Given the description of an element on the screen output the (x, y) to click on. 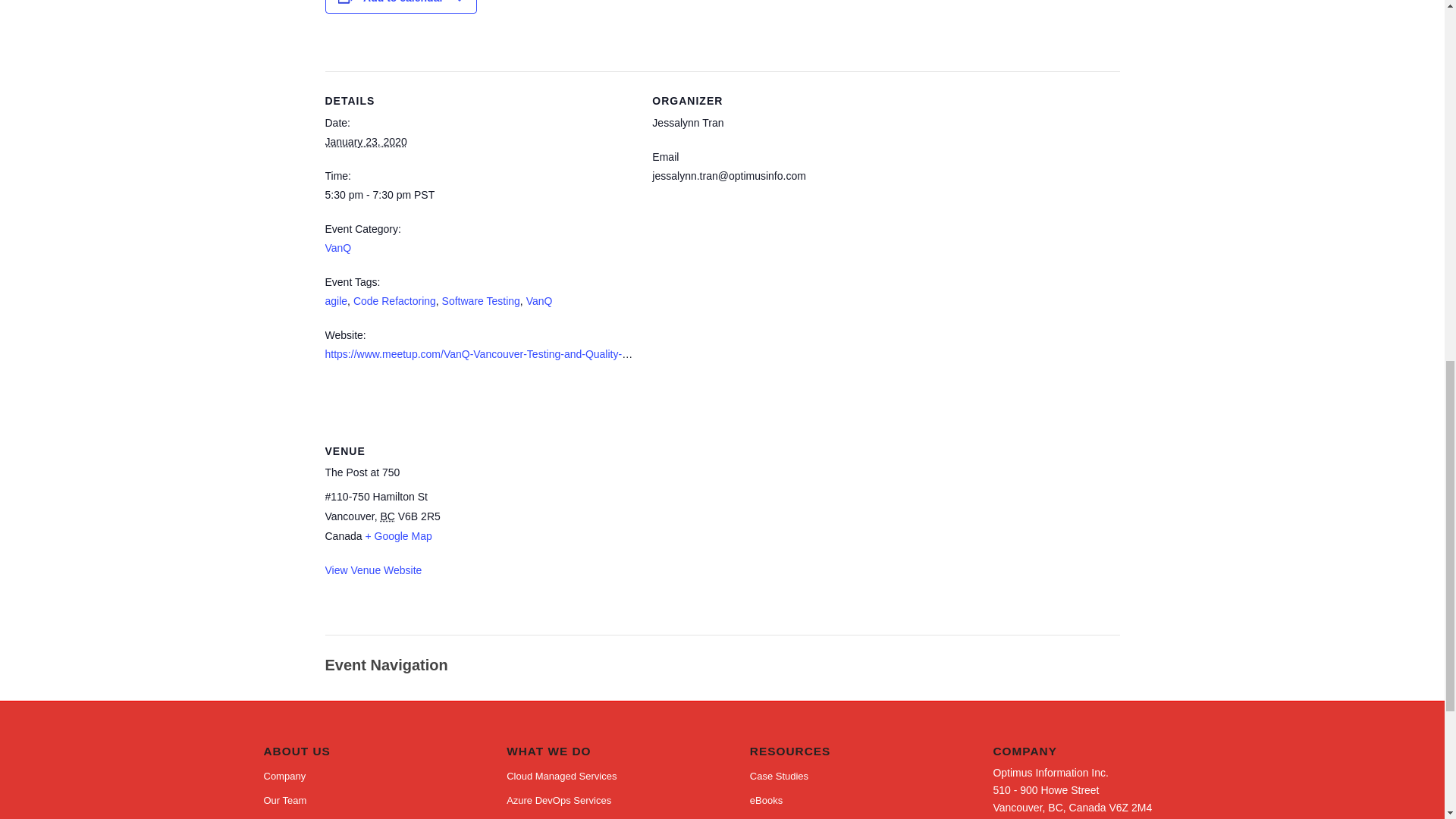
Google maps iframe displaying the address to The Post at 750 (550, 525)
Click to view a Google Map (397, 535)
2020-01-23 (478, 195)
BC (387, 516)
2020-01-23 (365, 141)
Add to calendar (403, 2)
